Given the description of an element on the screen output the (x, y) to click on. 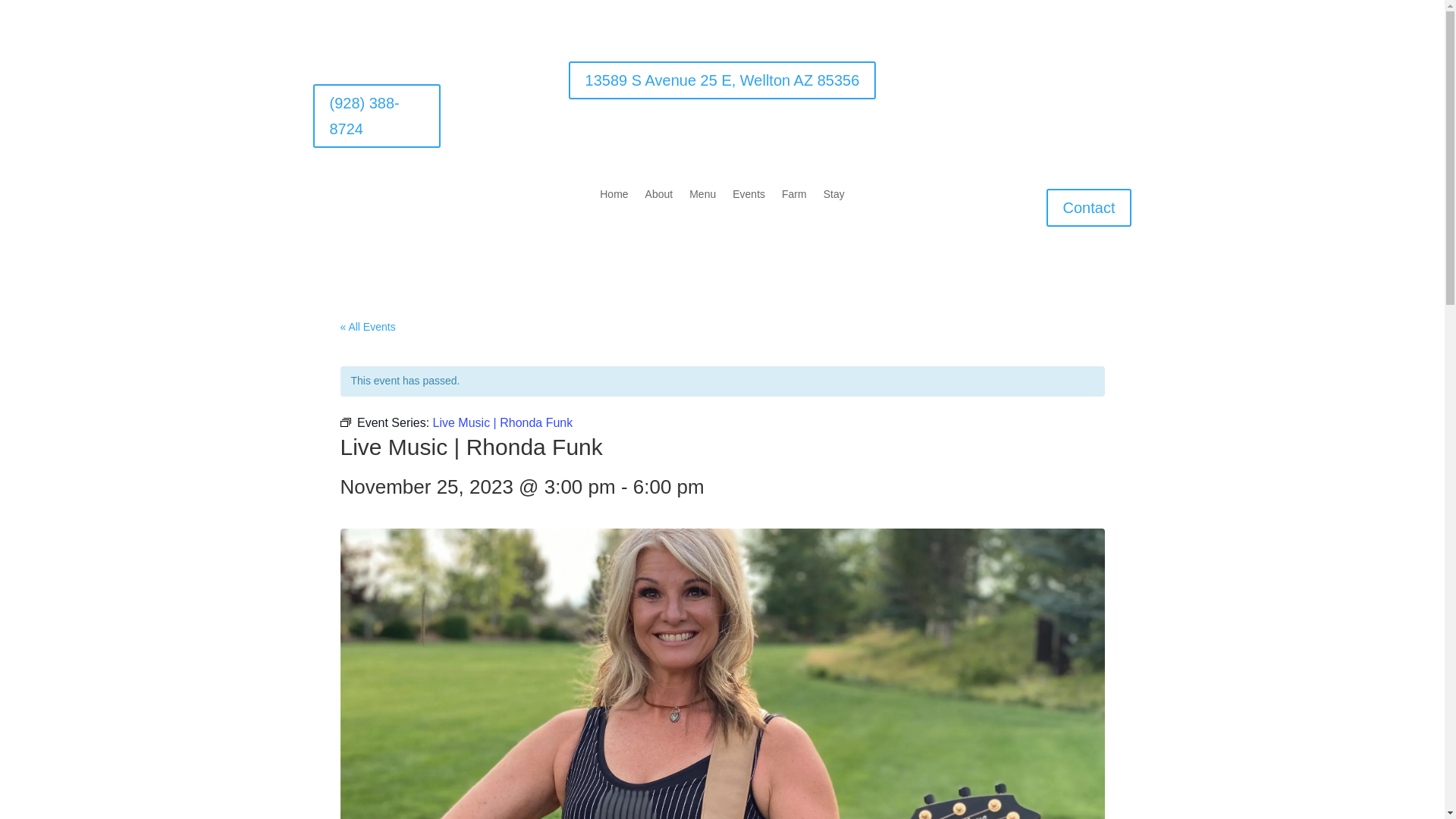
Follow on Instagram (1118, 73)
Home (613, 197)
Event Series (344, 421)
13589 S Avenue 25 E, Wellton AZ 85356 (722, 80)
About (658, 197)
Events (748, 197)
Stay (834, 197)
Menu (702, 197)
Farm (793, 197)
Contact (1089, 207)
Follow on Facebook (1088, 73)
